Given the description of an element on the screen output the (x, y) to click on. 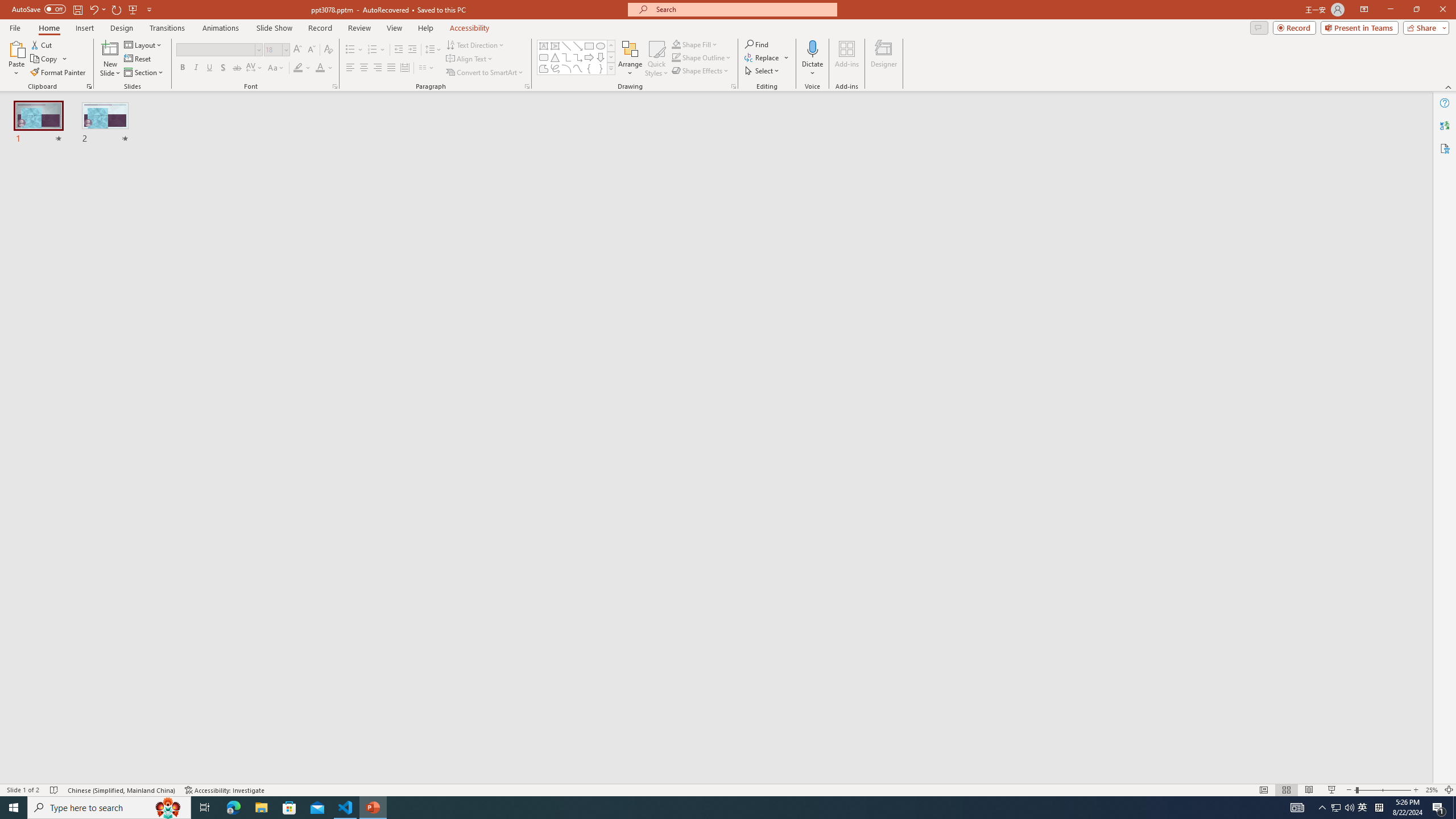
Output (Ctrl+Shift+U) (395, 183)
Restore Panel Size (1005, 182)
Class: menubar compact overflow-menu-only (76, 183)
Outline Section (188, 725)
remote (69, 766)
Timeline Section (188, 746)
Views and More Actions... (251, 182)
Add Port (666, 335)
wangyian_webcrawler - DSW (23, 249)
